Given the description of an element on the screen output the (x, y) to click on. 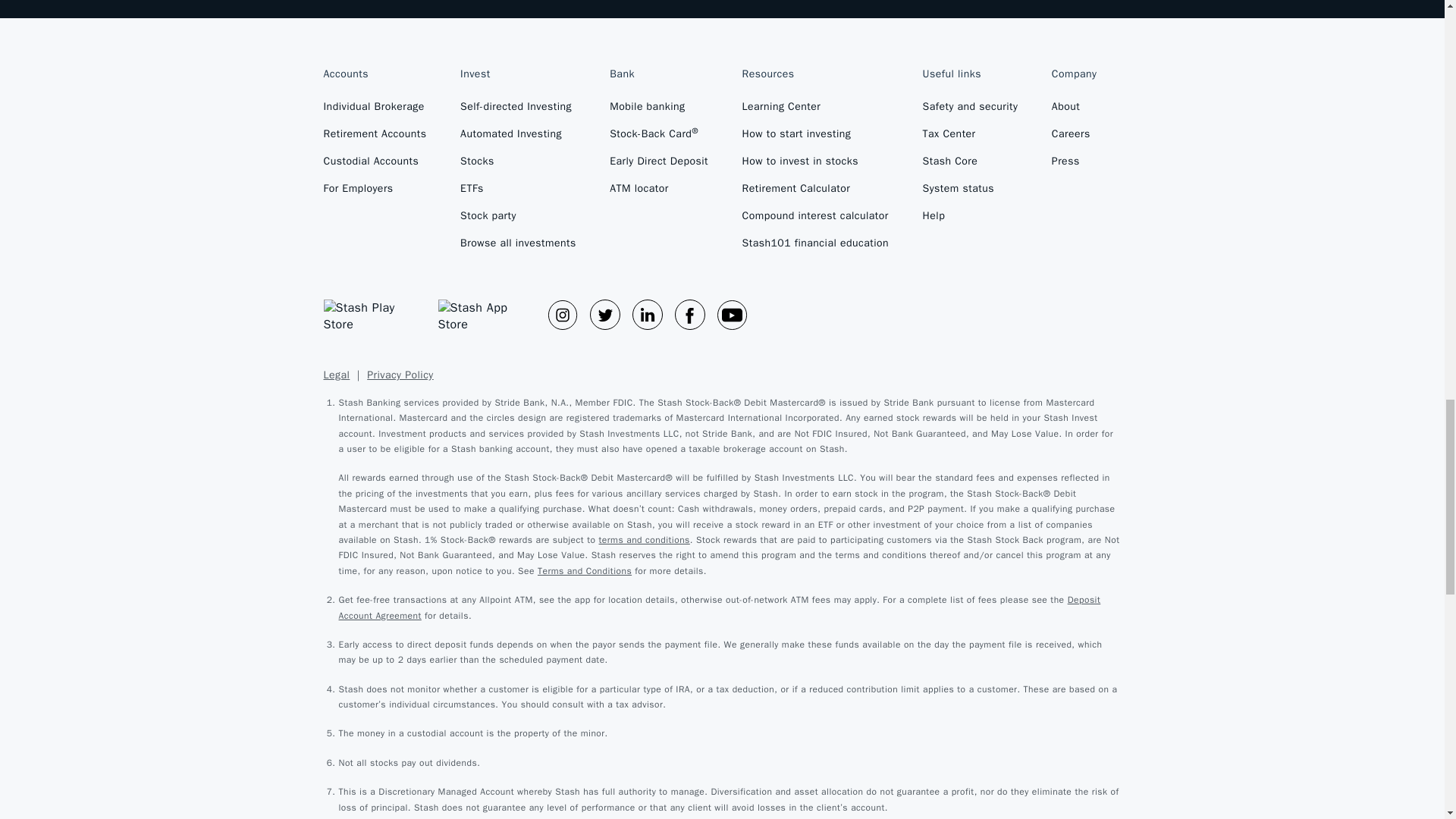
About (1074, 112)
Retirement Calculator (815, 194)
Help (970, 221)
Automated Investing (518, 139)
Safety and security (970, 112)
Retirement Accounts (374, 139)
Compound interest calculator (815, 221)
How to start investing (815, 139)
For Employers (374, 194)
Early Direct Deposit (658, 166)
